Given the description of an element on the screen output the (x, y) to click on. 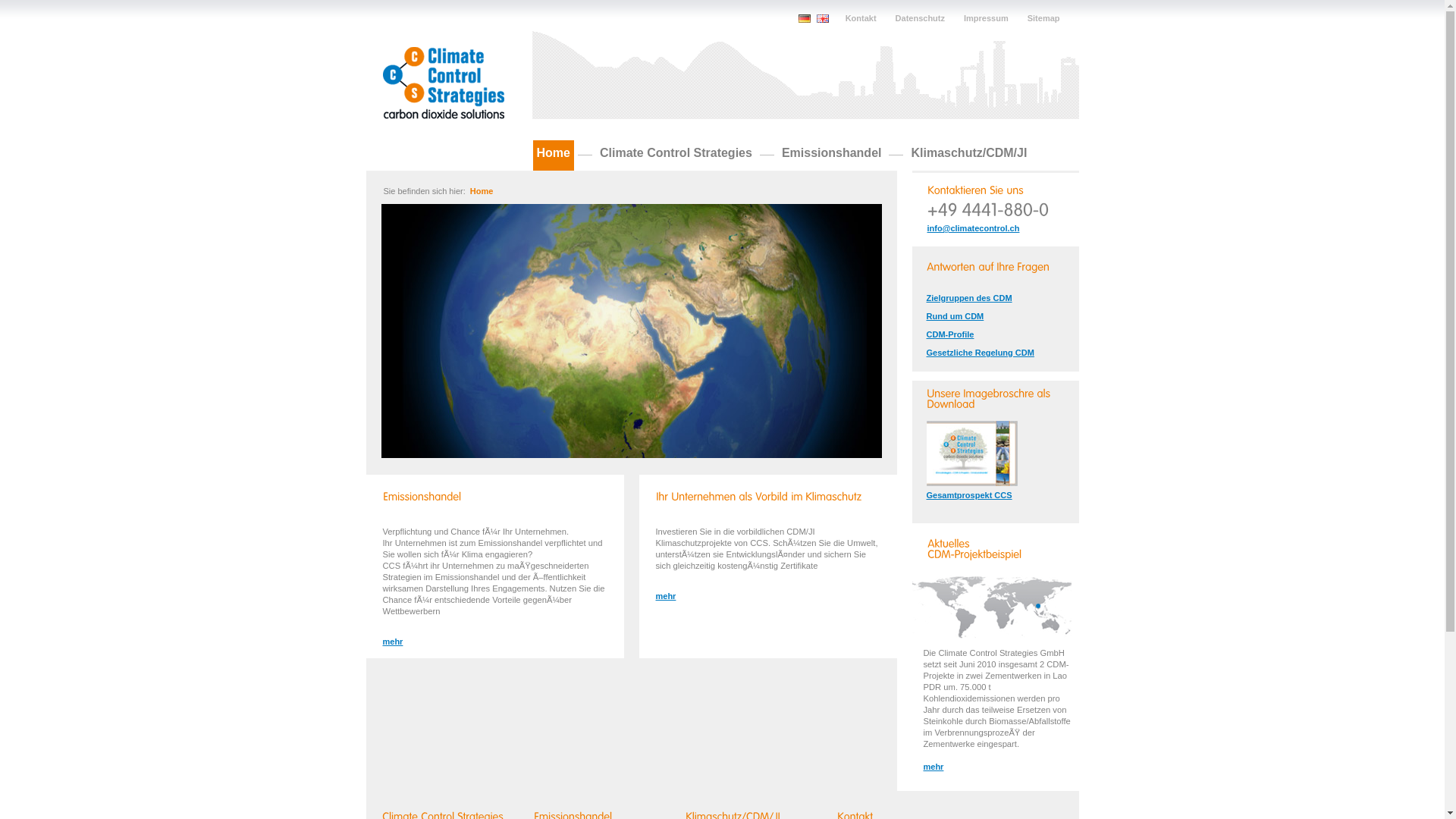
Kontakt Element type: text (860, 17)
mehr Element type: text (494, 641)
Home Element type: text (552, 155)
Climate Control Strategies carbon dioxide solutions Element type: hover (442, 83)
Datenschutz Element type: text (919, 17)
CDM-Profile Element type: text (998, 334)
mehr Element type: text (767, 595)
Klimaschutz/CDM/JI Element type: text (968, 155)
info@climatecontrol.ch Element type: text (1002, 228)
Impressum Element type: text (985, 17)
Sitemap Element type: text (1043, 17)
Zielgruppen des CDM Element type: text (998, 297)
Gesamtprospekt CCS Element type: text (1002, 495)
mehr Element type: text (1006, 766)
Home Element type: text (481, 190)
Gesetzliche Regelung CDM Element type: text (998, 352)
Rund um CDM Element type: text (998, 316)
Emissionshandel Element type: text (831, 155)
Climate Control Strategies Element type: text (676, 155)
